Given the description of an element on the screen output the (x, y) to click on. 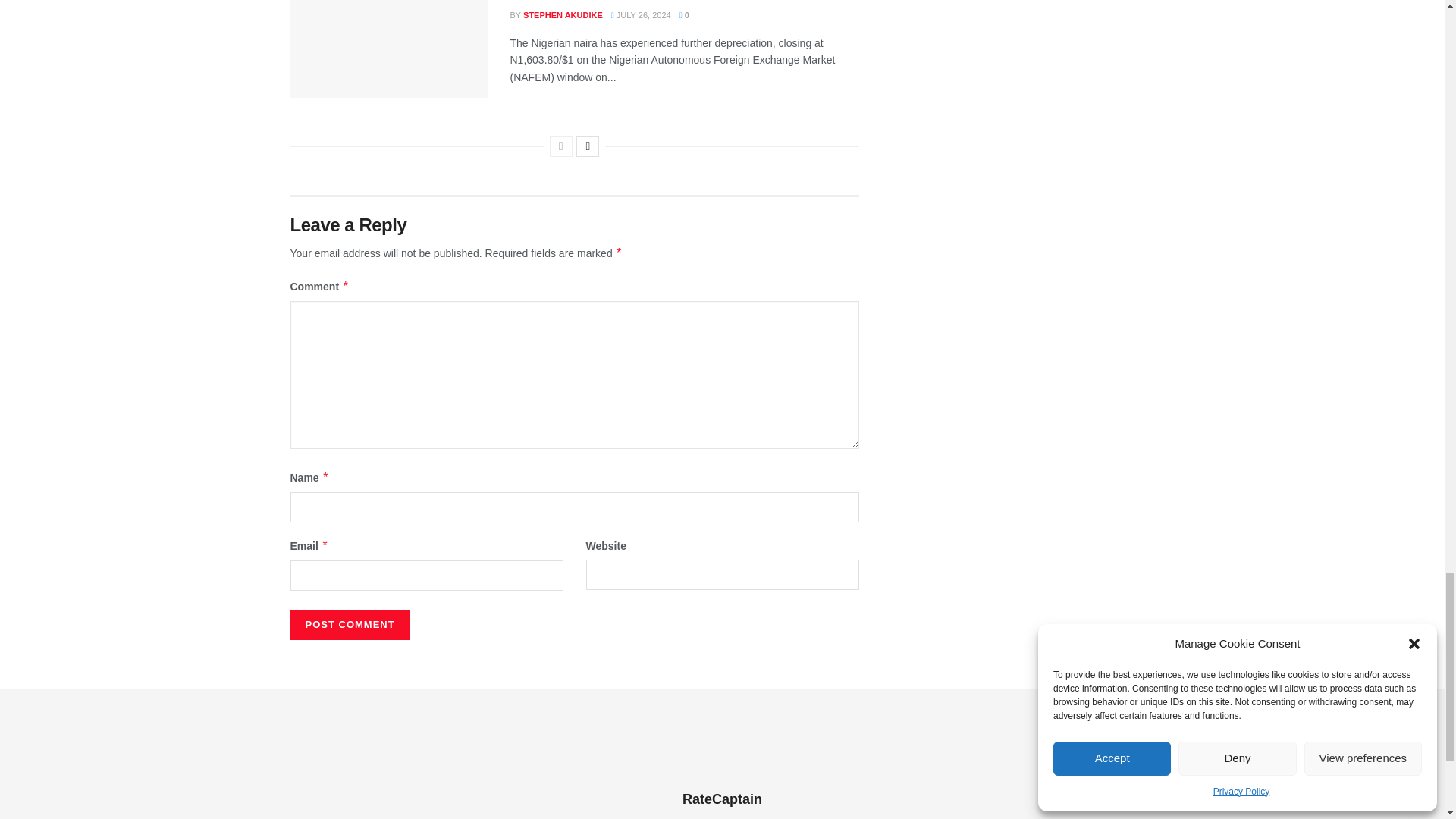
Next (587, 146)
Post Comment (349, 624)
Previous (561, 146)
